Given the description of an element on the screen output the (x, y) to click on. 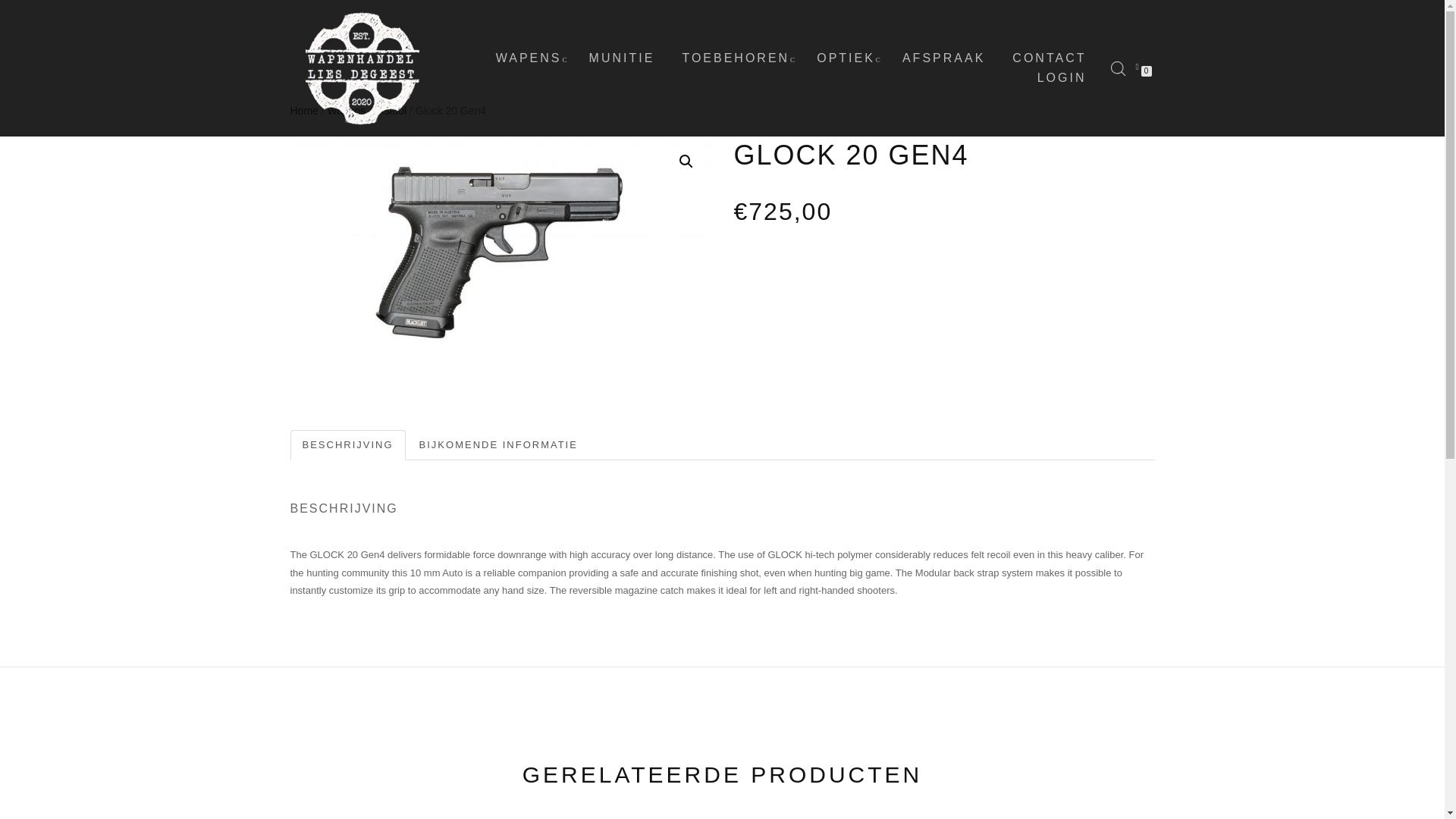
OPTIEK (845, 57)
Wapens (346, 110)
0 (1139, 64)
MUNITIE (622, 57)
CONTACT (1049, 57)
BESCHRIJVING (346, 445)
Glock 20 Gen4 (499, 251)
Home (303, 110)
Bekijk de winkelmand (1139, 64)
Pistool (390, 110)
